Given the description of an element on the screen output the (x, y) to click on. 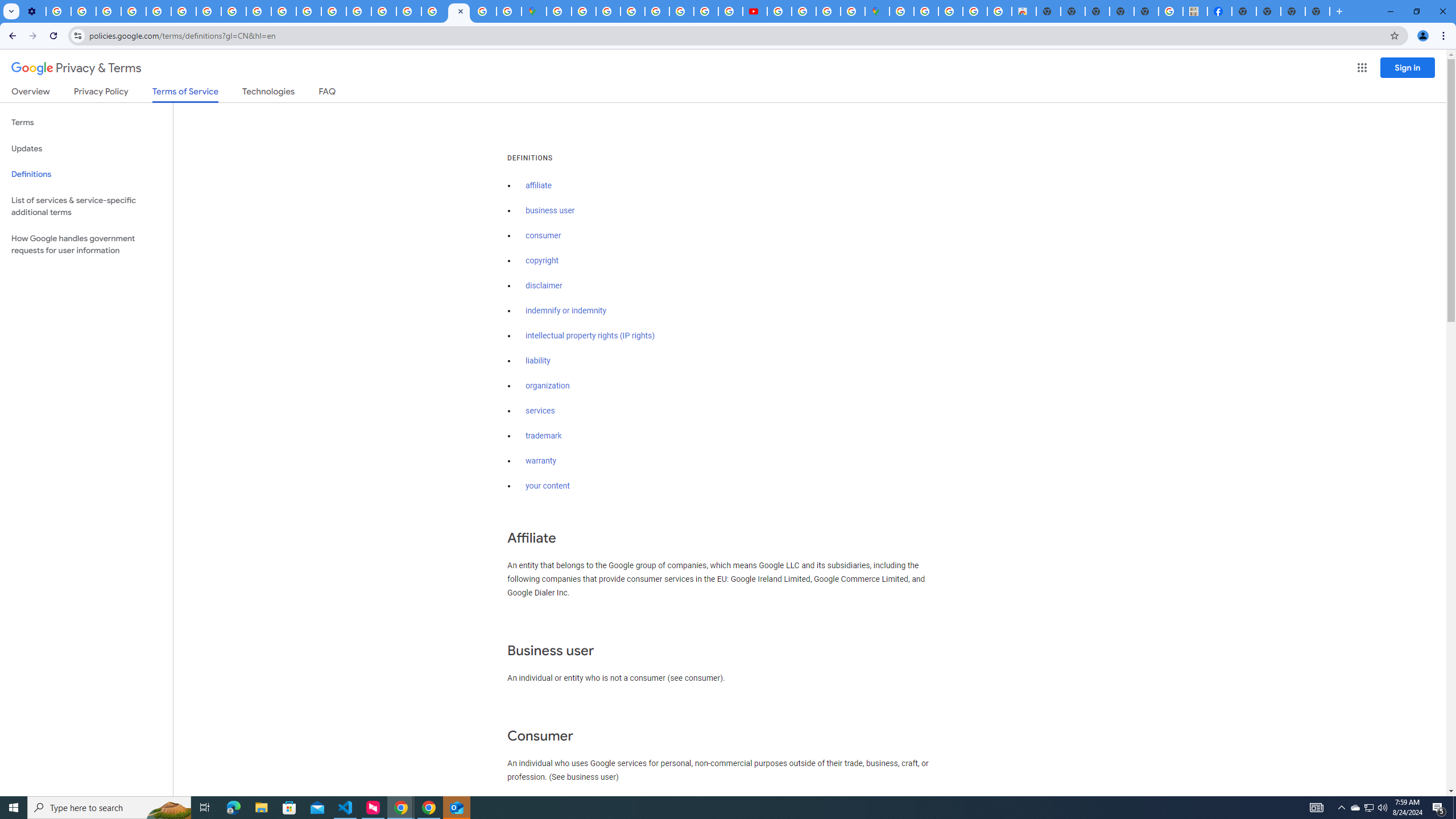
Terms and Conditions (656, 11)
business user (550, 210)
organization (547, 385)
Sign in - Google Accounts (433, 11)
trademark (543, 435)
Privacy Help Center - Policies Help (332, 11)
New Tab (1243, 11)
liability (537, 361)
Google Account Help (133, 11)
